Given the description of an element on the screen output the (x, y) to click on. 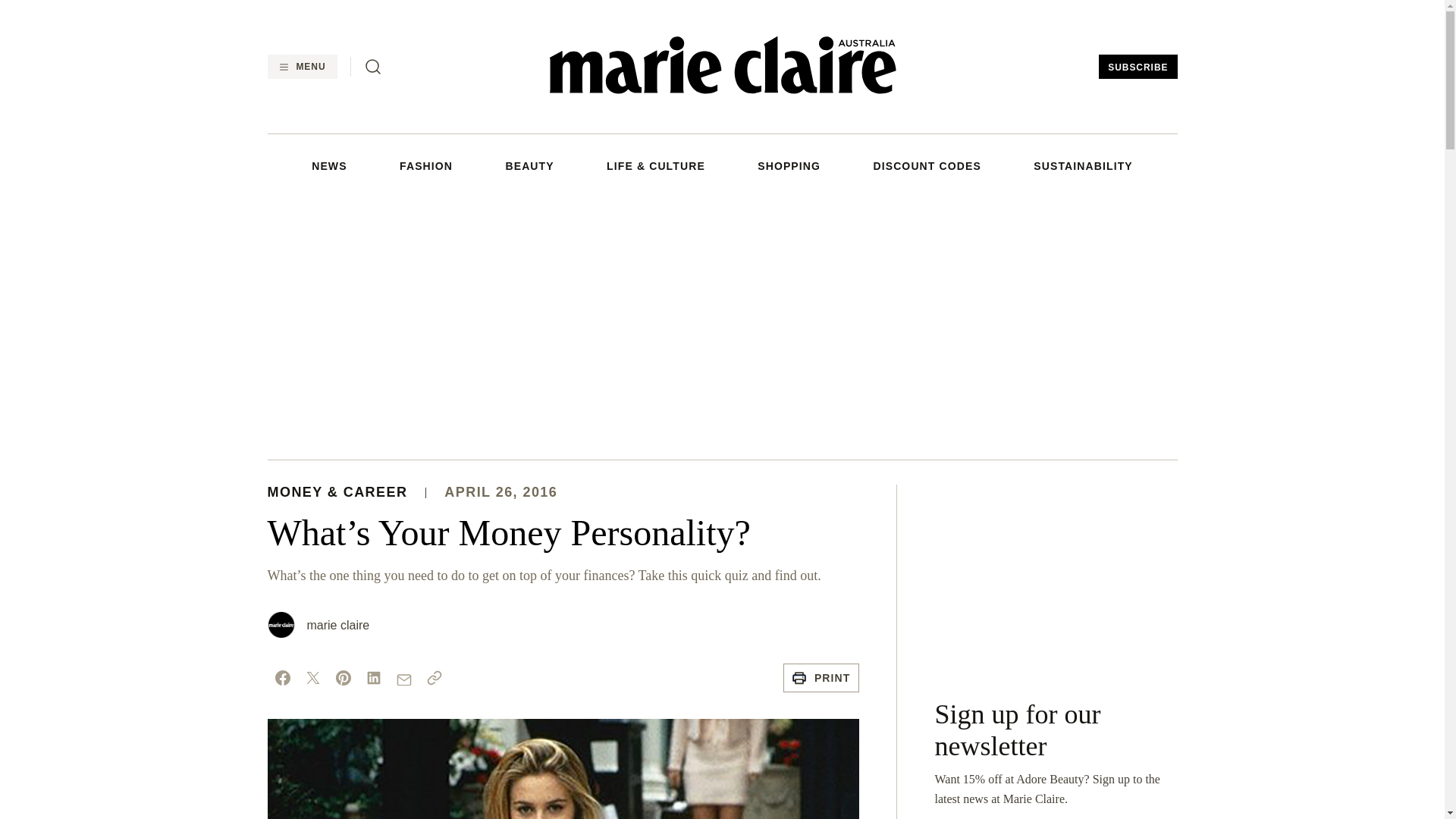
BEAUTY (529, 165)
FASHION (425, 165)
MENU (301, 66)
NEWS (328, 165)
DISCOUNT CODES (925, 165)
SUSTAINABILITY (1082, 165)
3rd party ad content (1055, 579)
SUBSCRIBE (1137, 66)
SHOPPING (789, 165)
